Given the description of an element on the screen output the (x, y) to click on. 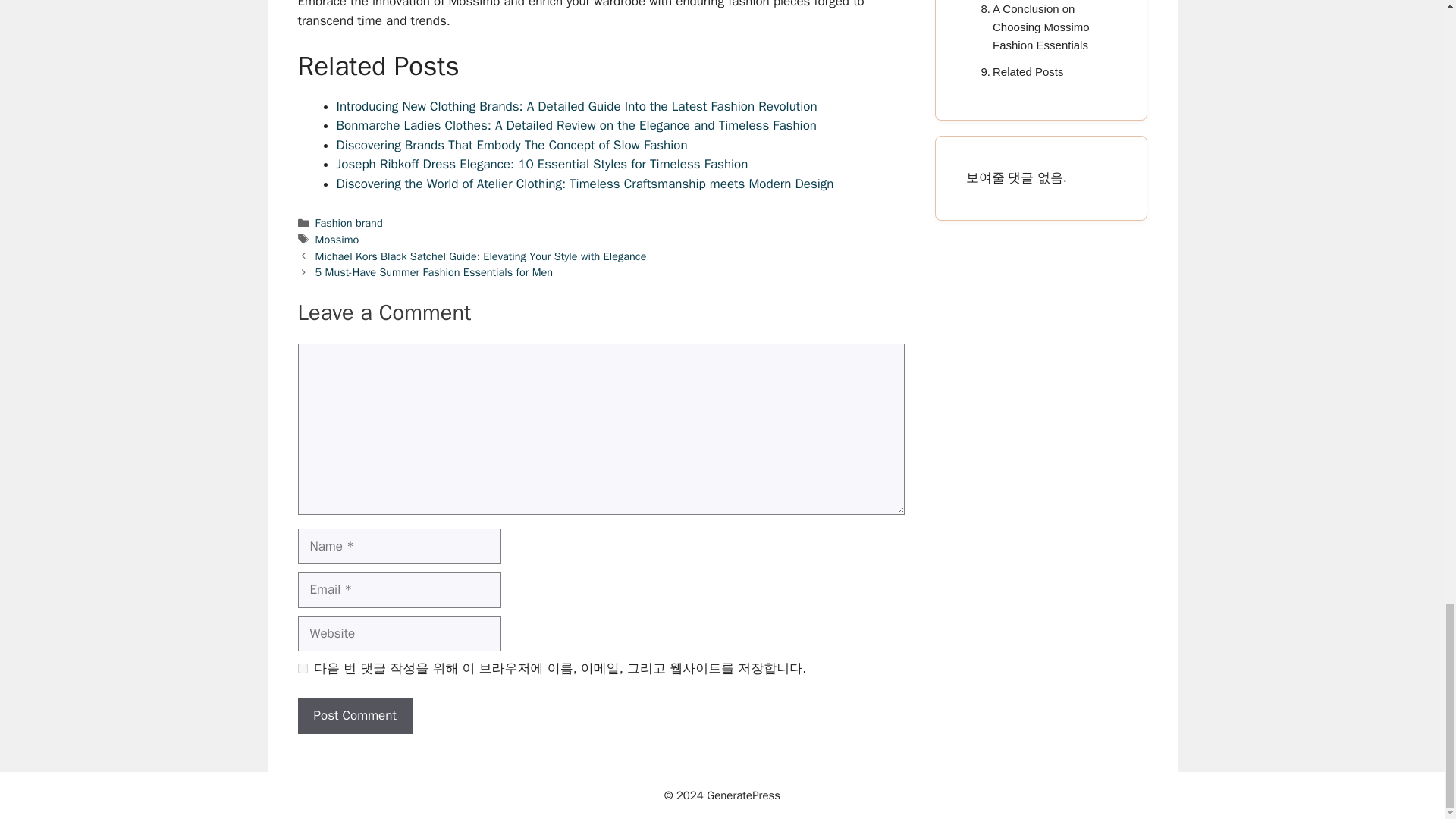
yes (302, 668)
Post Comment (354, 715)
Post Comment (354, 715)
Fashion brand (348, 223)
Mossimo (337, 239)
Discovering Brands That Embody The Concept of Slow Fashion (511, 145)
5 Must-Have Summer Fashion Essentials for Men (434, 272)
